Given the description of an element on the screen output the (x, y) to click on. 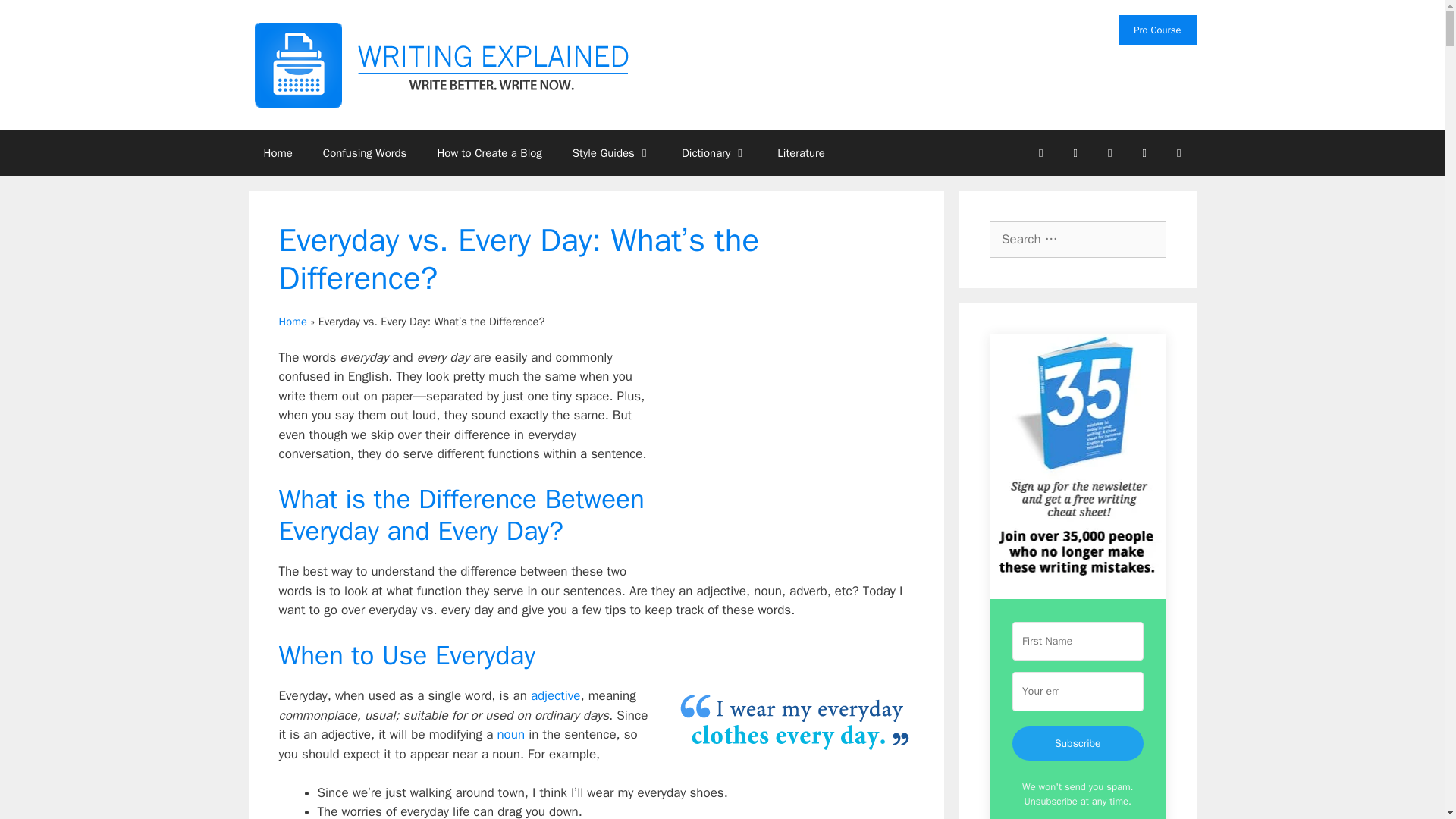
How to Create a Blog (489, 153)
noun (510, 734)
Style Guides (611, 153)
Search (35, 18)
Subscribe (1076, 743)
Home (277, 153)
Pro Course (1156, 30)
adjective (555, 695)
Literature (800, 153)
Confusing Words (364, 153)
Home (293, 321)
Search for: (1078, 239)
Dictionary (713, 153)
Advertisement (786, 461)
